Given the description of an element on the screen output the (x, y) to click on. 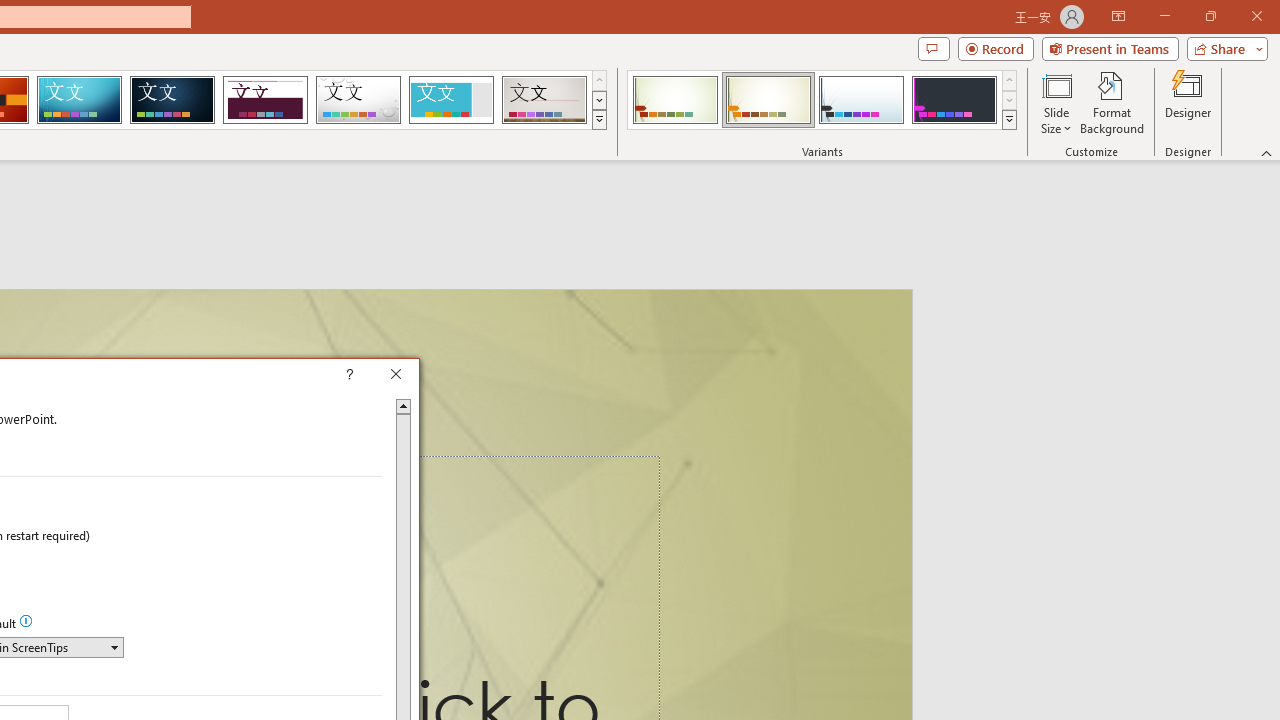
Slide Size (1056, 102)
Wisp Variant 1 (674, 100)
Damask Loading Preview... (171, 100)
AutomationID: ThemeVariantsGallery (822, 99)
Wisp Variant 3 (861, 100)
Context help (378, 376)
Wisp Variant 4 (953, 100)
